Given the description of an element on the screen output the (x, y) to click on. 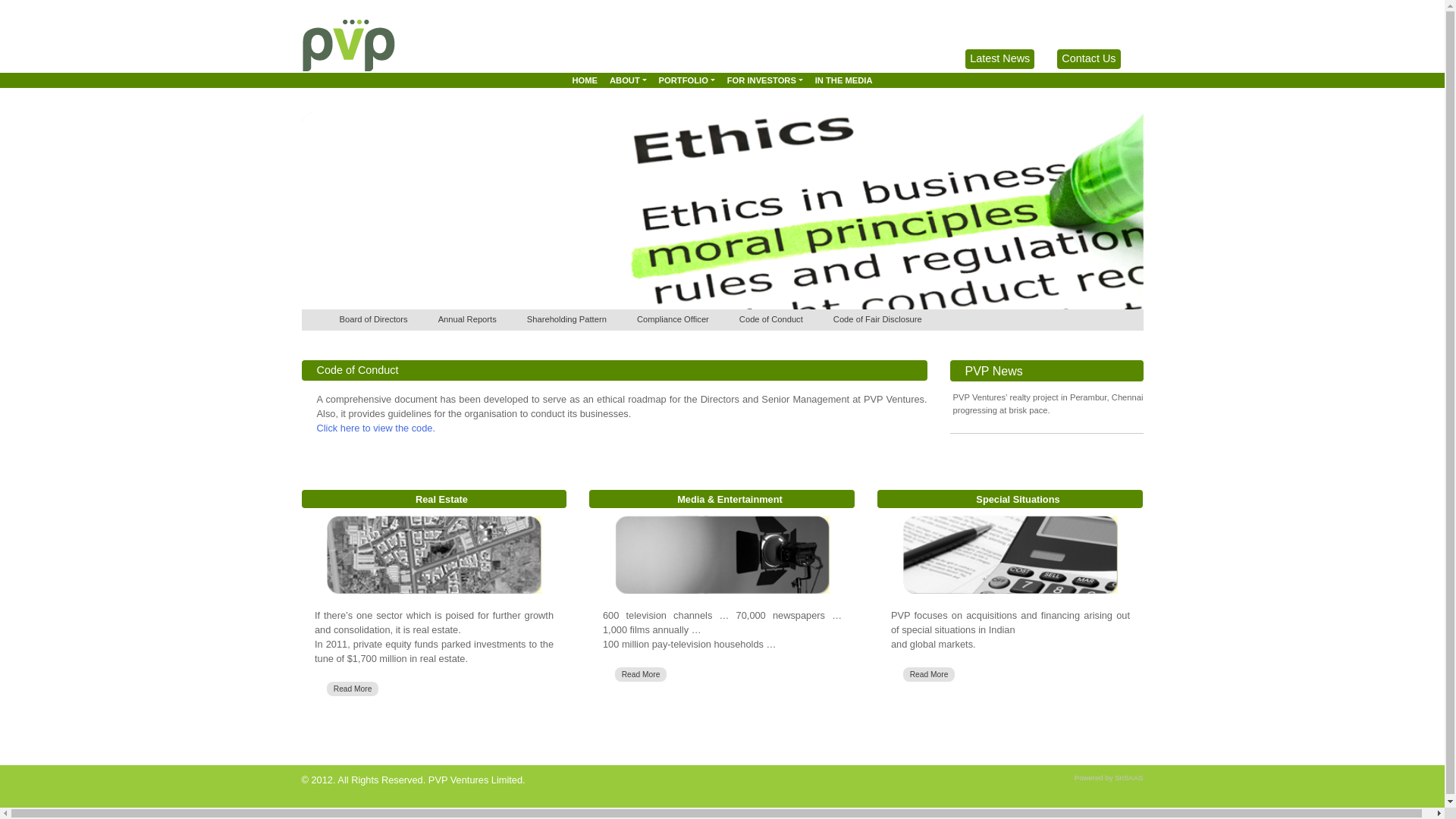
FOR INVESTORS (764, 79)
IN THE MEDIA (844, 79)
Compliance Officer (673, 318)
Annual Reports (467, 318)
Shareholding Pattern (567, 318)
Contact Us (1088, 58)
PORTFOLIO (686, 79)
HOME (585, 79)
ABOUT (628, 79)
Board of Directors (373, 318)
Latest News (999, 58)
